Given the description of an element on the screen output the (x, y) to click on. 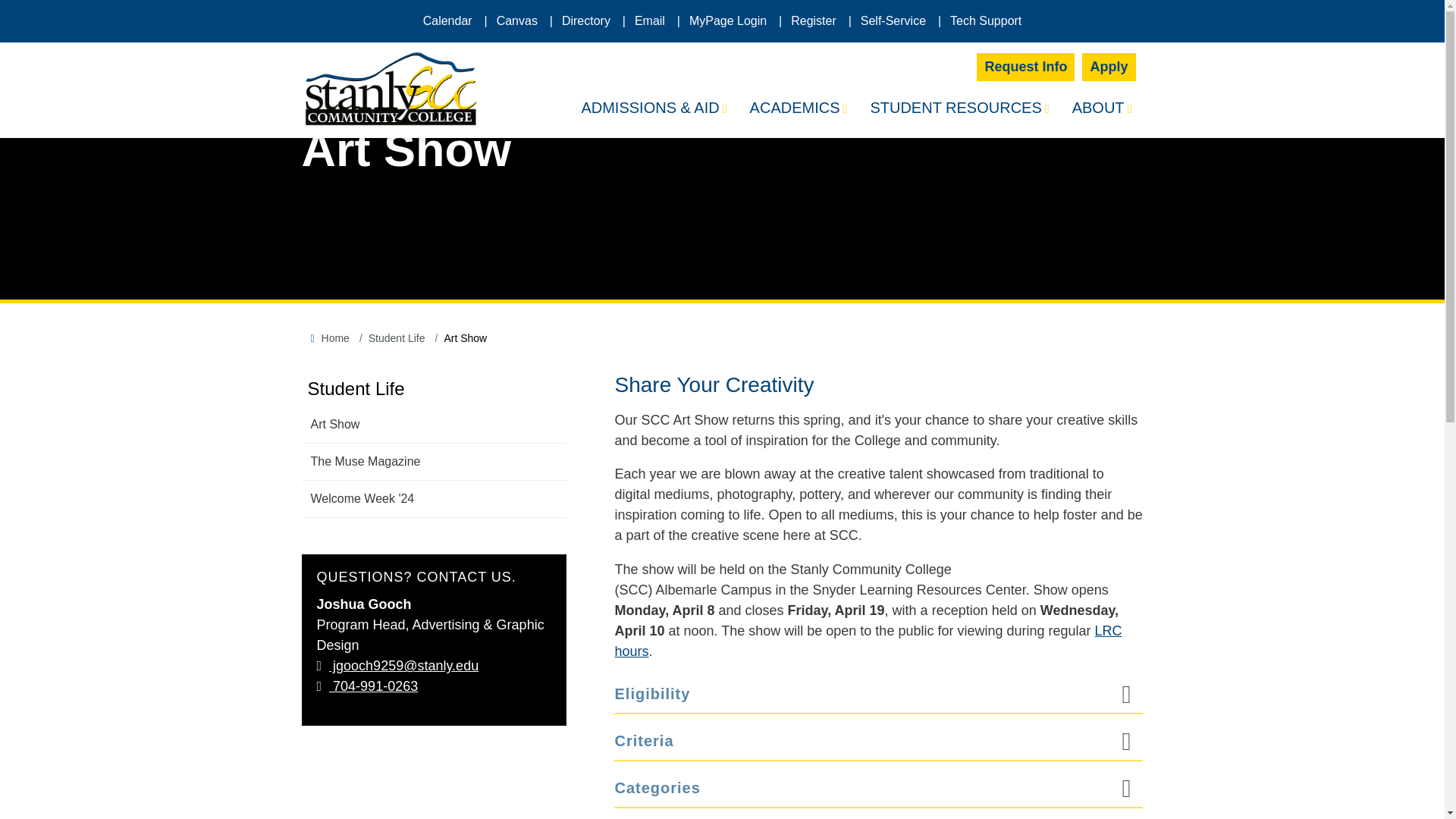
STUDENT RESOURCES (959, 109)
Request Info (1025, 67)
Apply (1108, 67)
ACADEMICS (798, 109)
